Given the description of an element on the screen output the (x, y) to click on. 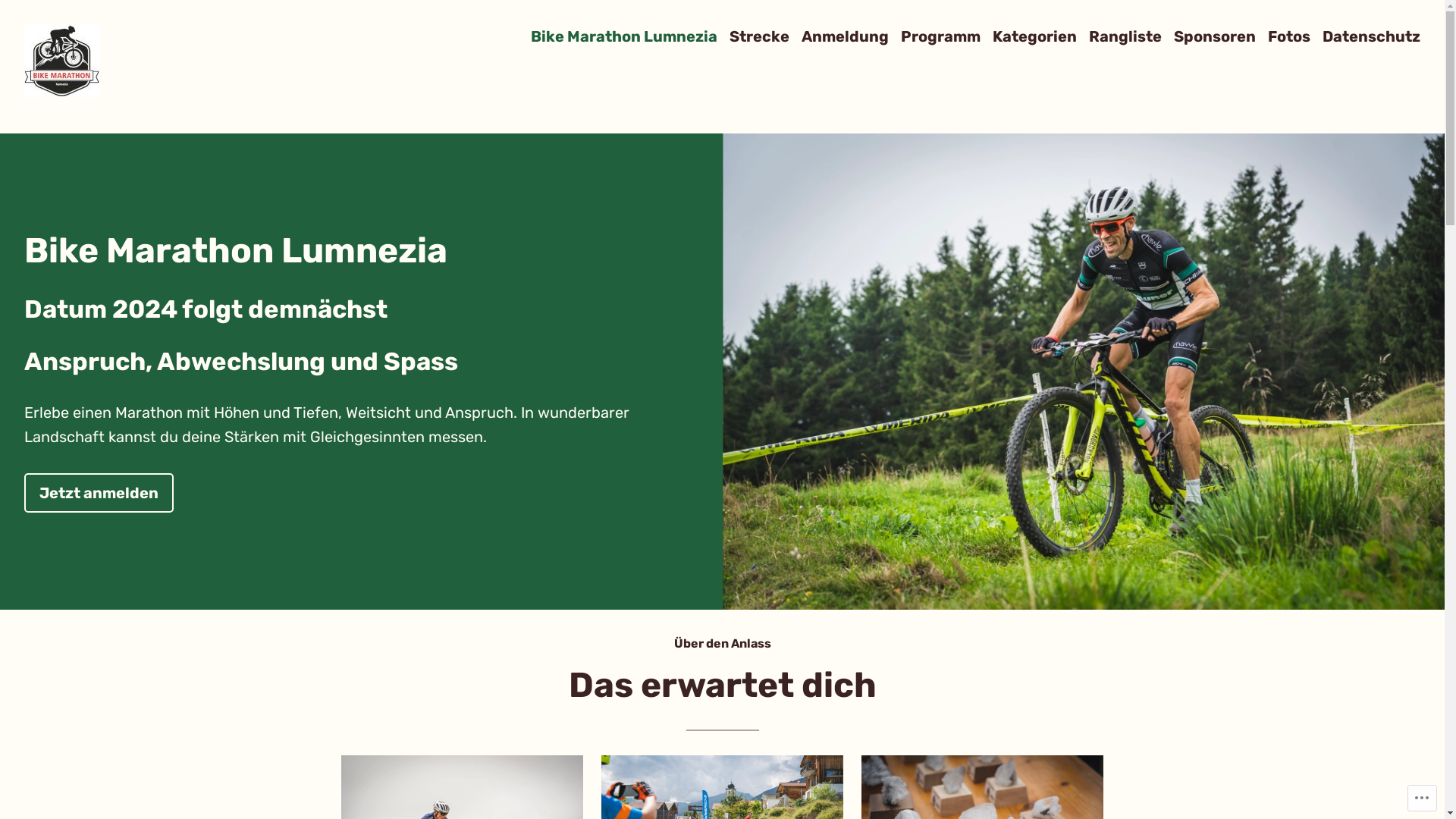
Rangliste Element type: text (1124, 35)
Jetzt anmelden Element type: text (98, 492)
Strecke Element type: text (759, 35)
Anmeldung Element type: text (844, 35)
Bike Marathon Lumnezia Element type: text (623, 35)
Fotos Element type: text (1288, 35)
Sponsoren Element type: text (1214, 35)
Datenschutz Element type: text (1371, 35)
Bikemarathon Lumnezia Element type: text (149, 119)
Programm Element type: text (940, 35)
Kategorien Element type: text (1034, 35)
